Given the description of an element on the screen output the (x, y) to click on. 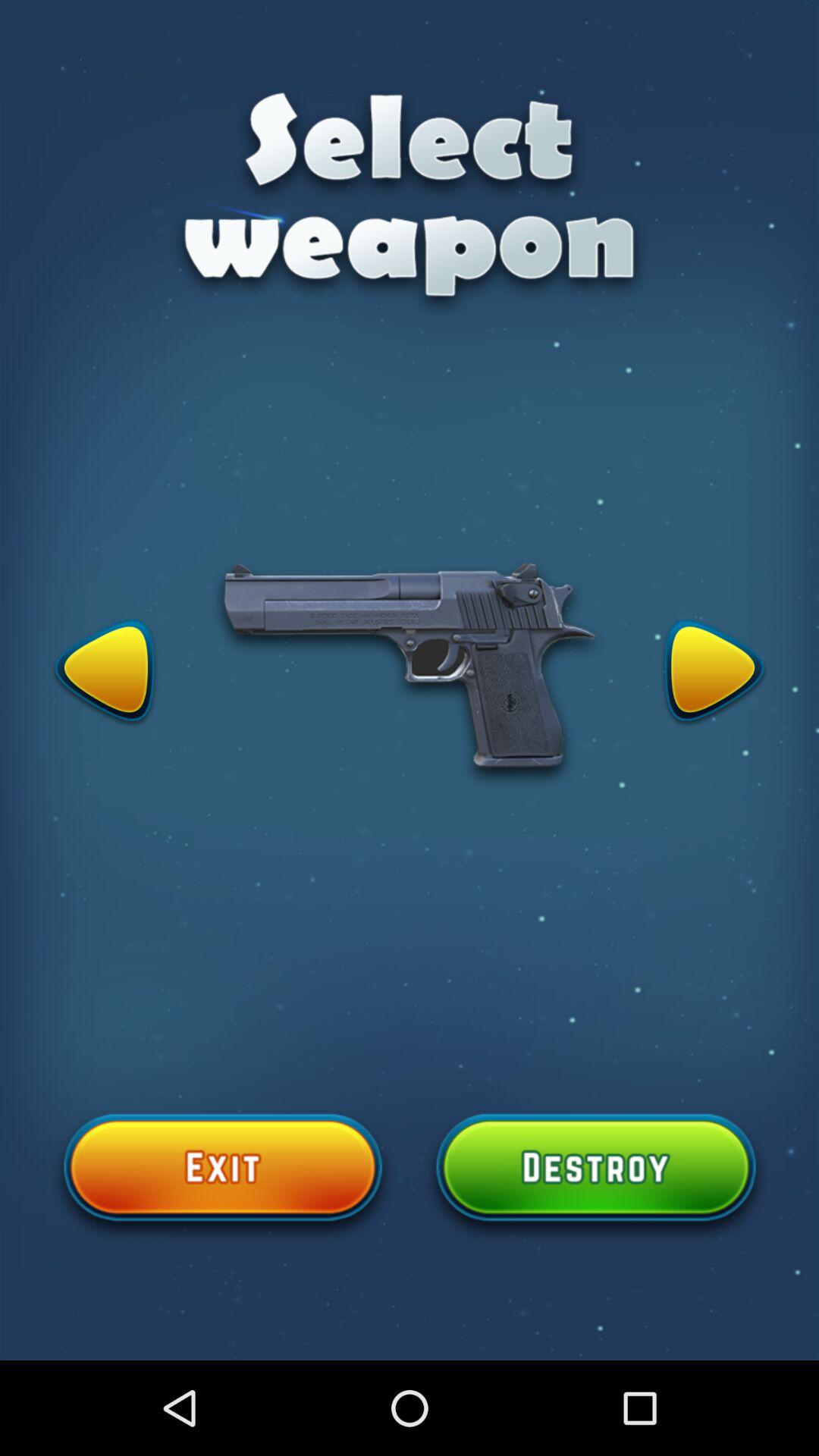
previous choice (104, 673)
